Given the description of an element on the screen output the (x, y) to click on. 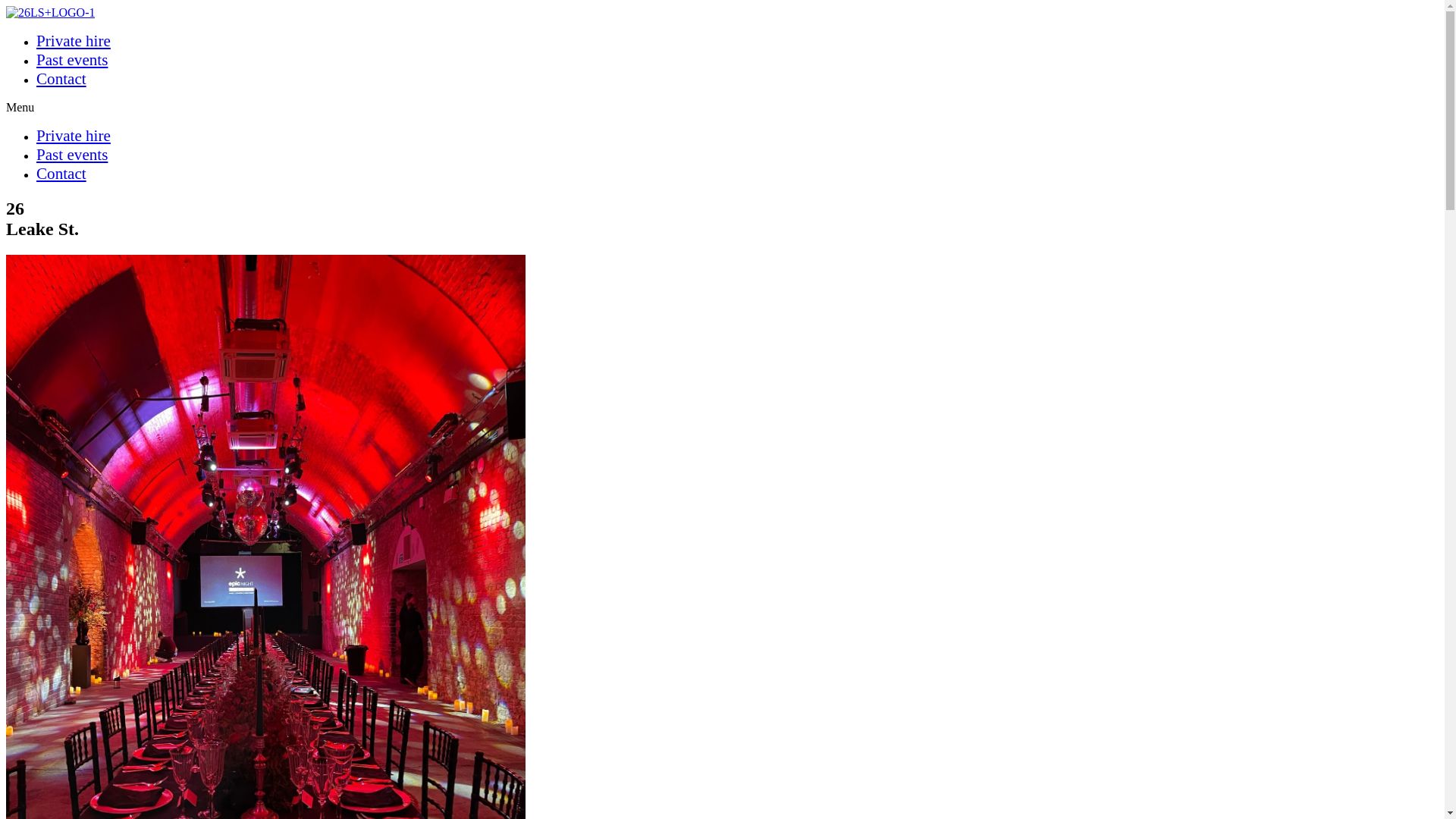
Contact Element type: text (61, 173)
Private hire Element type: text (73, 135)
26LS+LOGO-1 Element type: hover (50, 12)
Contact Element type: text (61, 78)
Past events Element type: text (71, 59)
Private hire Element type: text (73, 40)
Past events Element type: text (71, 154)
